Given the description of an element on the screen output the (x, y) to click on. 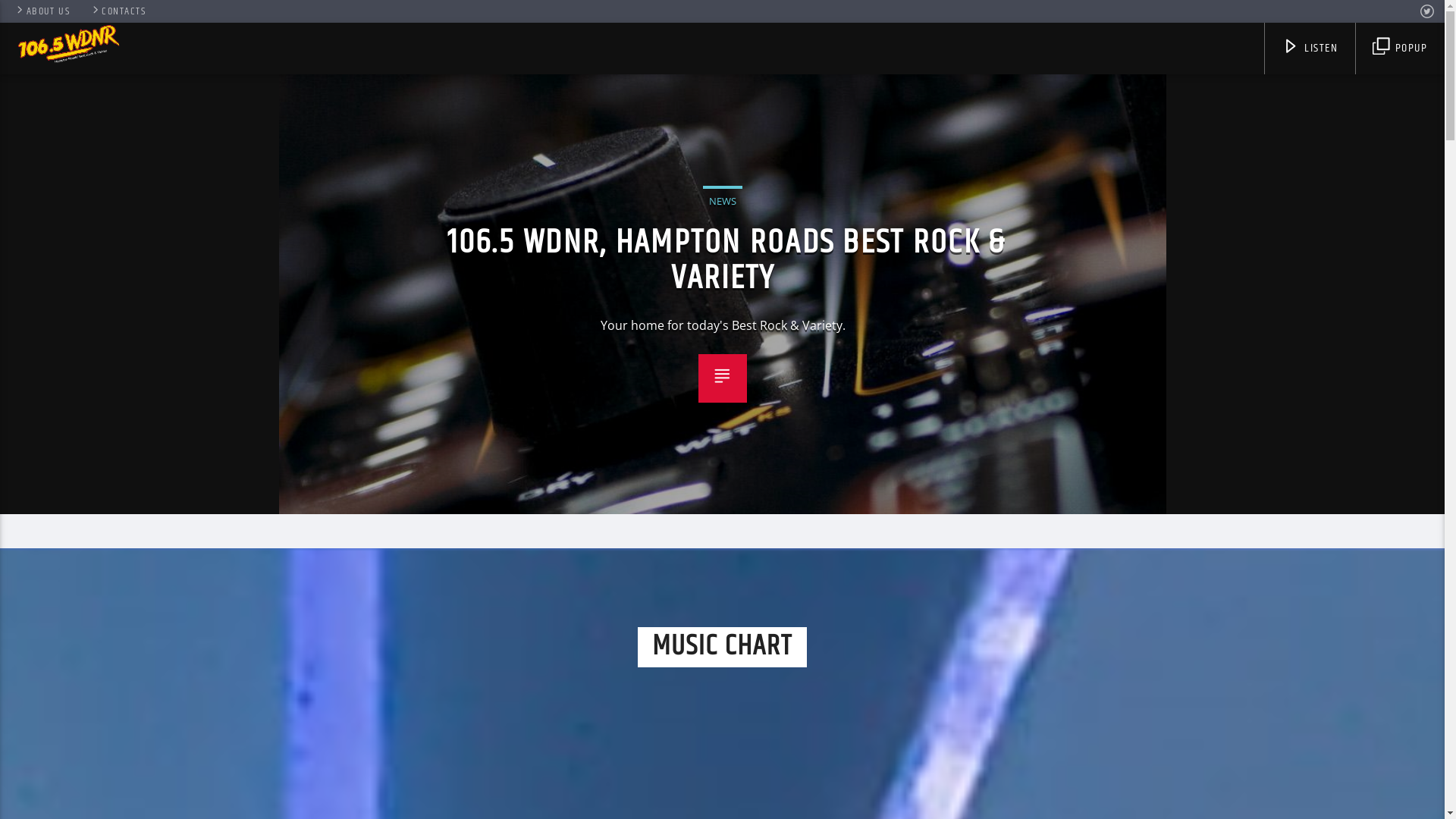
106.5 WDNR, HAMPTON ROADS BEST ROCK & VARIETY Element type: text (726, 260)
NEWS Element type: text (722, 199)
ABOUT US Element type: text (41, 11)
POPUP Element type: text (1399, 48)
CONTACTS Element type: text (117, 11)
LISTEN Element type: text (1309, 48)
